Given the description of an element on the screen output the (x, y) to click on. 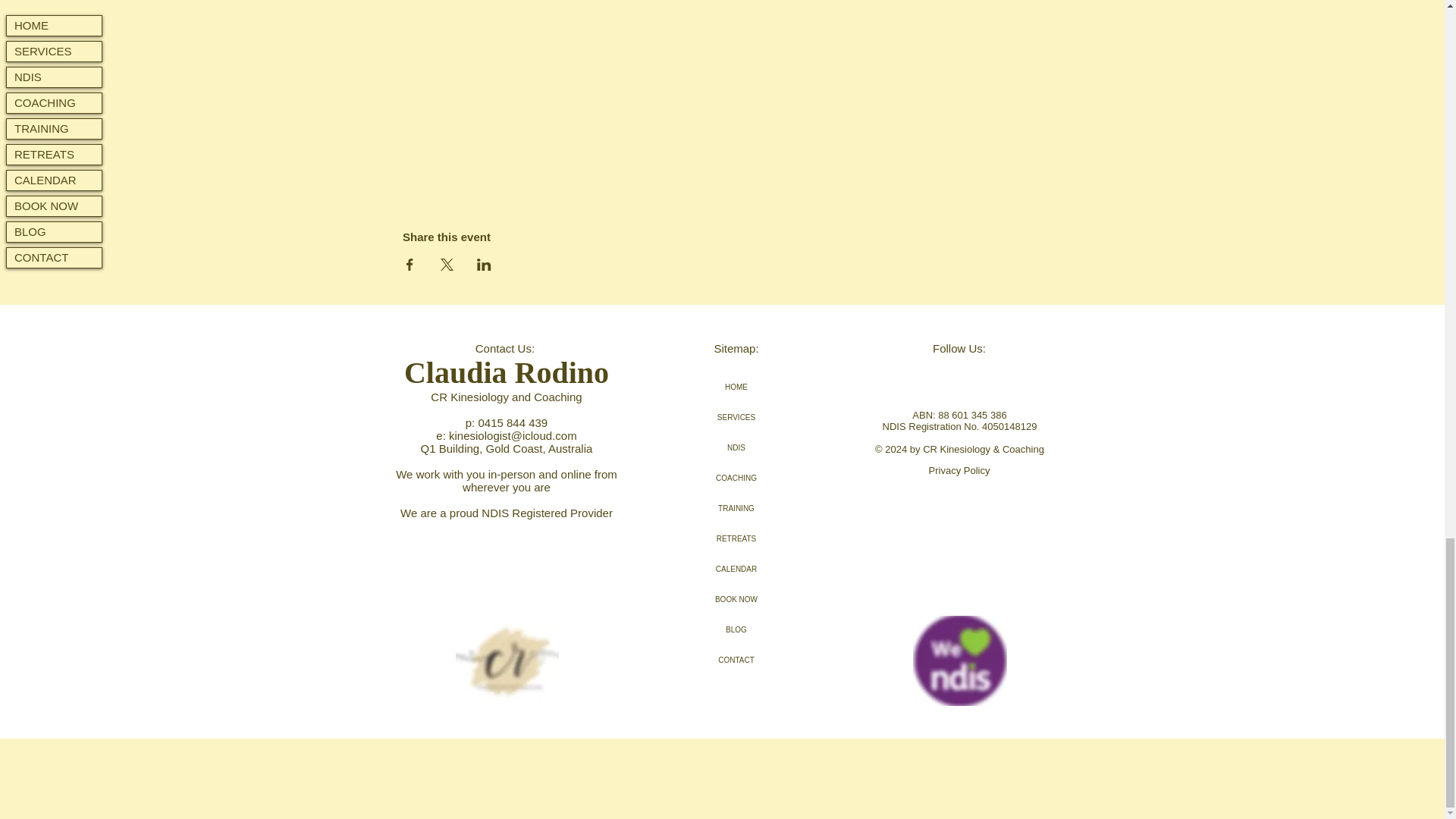
Contact Us:  (507, 348)
CR Kinesiology and Coaching (505, 396)
SERVICES (736, 417)
HOME (736, 387)
NDIS (736, 448)
Claudia Rodino (506, 372)
Sitemap: (735, 348)
